Given the description of an element on the screen output the (x, y) to click on. 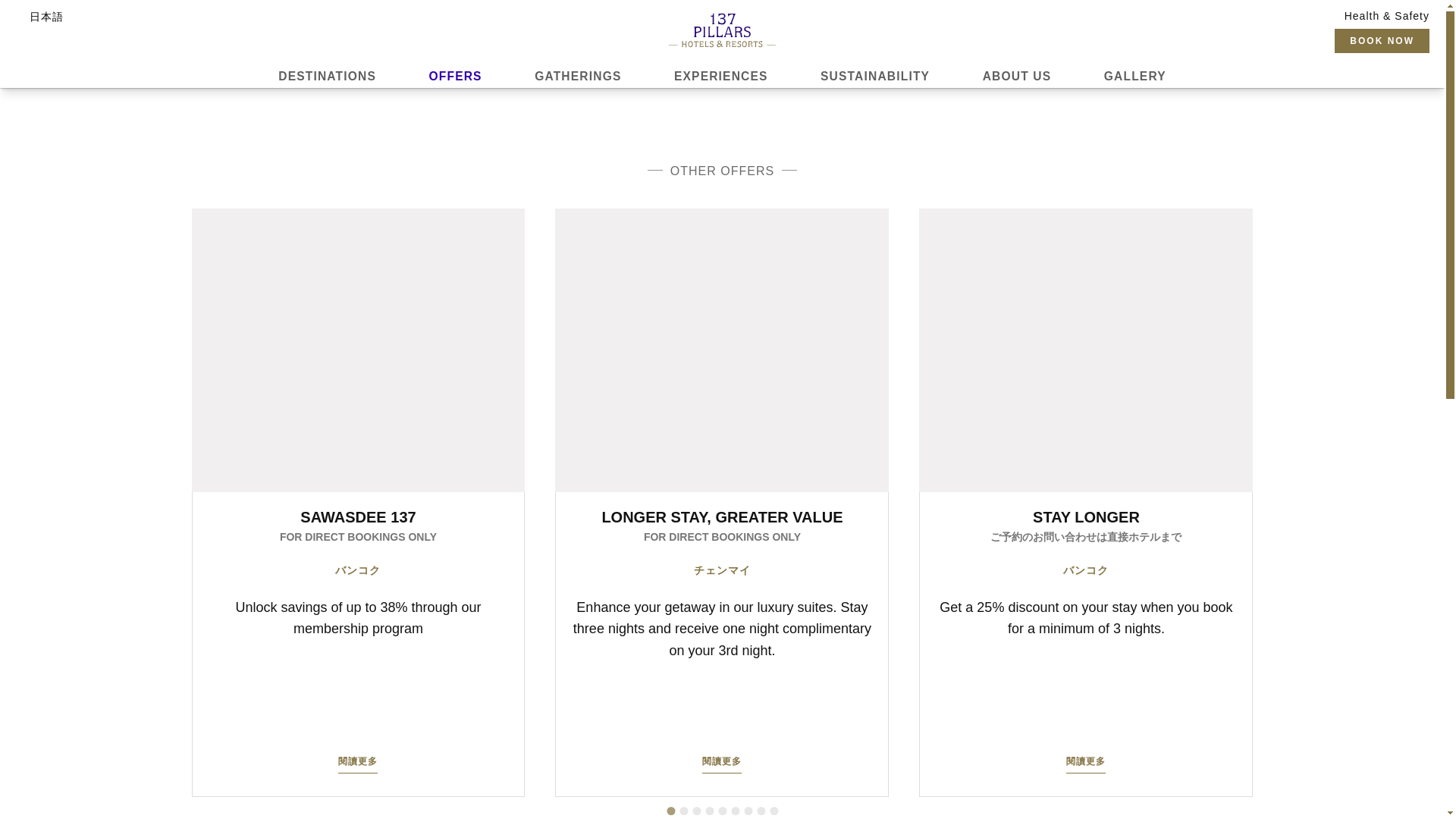
SUSTAINABILITY (874, 75)
OFFERS (455, 75)
EXPERIENCES (720, 75)
GATHERINGS (577, 75)
BOOK NOW (1382, 40)
ABOUT US (1016, 75)
GALLERY (1134, 75)
DESTINATIONS (326, 75)
back to homepage (722, 30)
Check Rates (1293, 82)
